Given the description of an element on the screen output the (x, y) to click on. 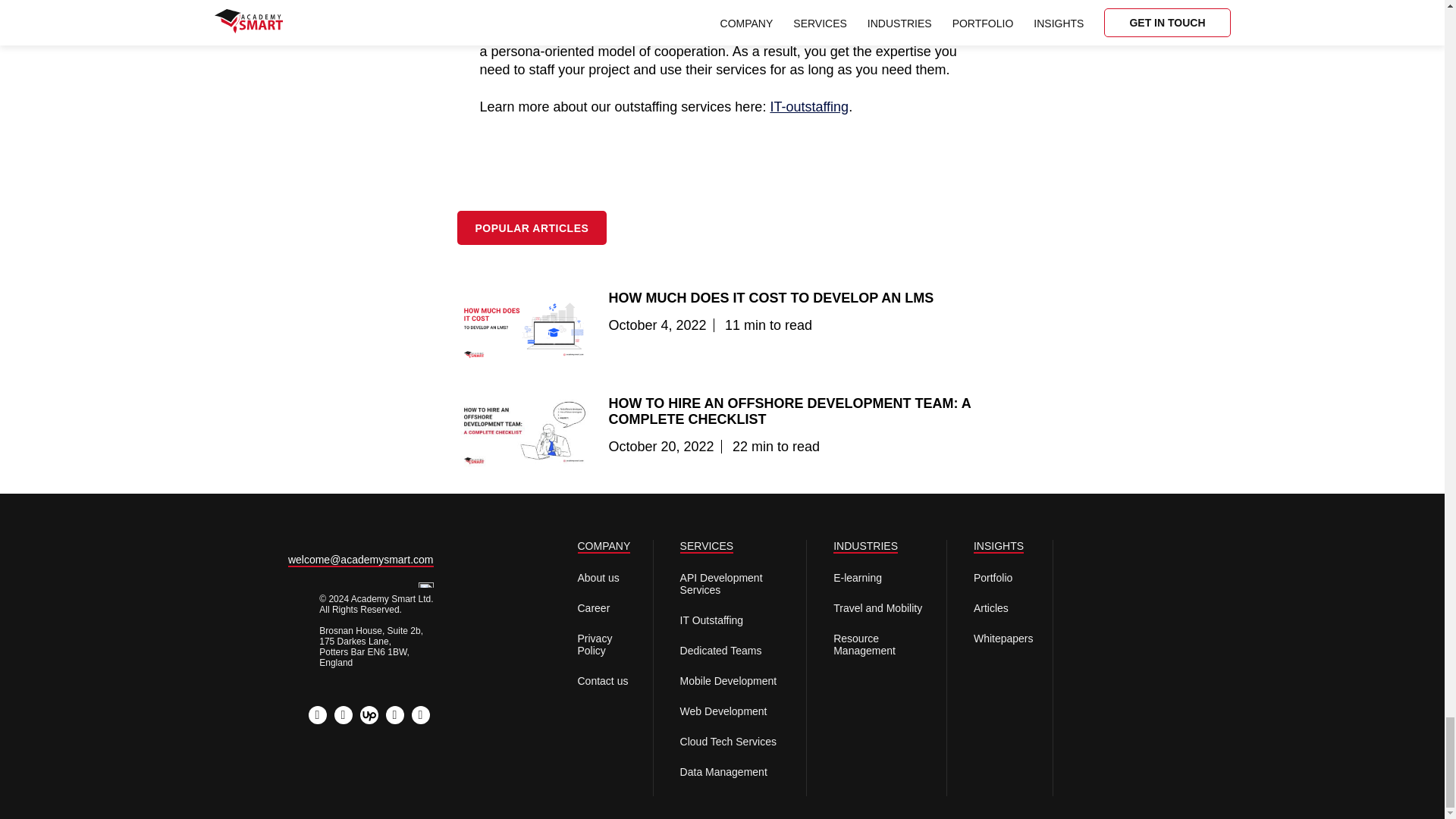
How Much Does It Cost to Develop an LMS (770, 297)
IT-outstaffing (809, 106)
